Given the description of an element on the screen output the (x, y) to click on. 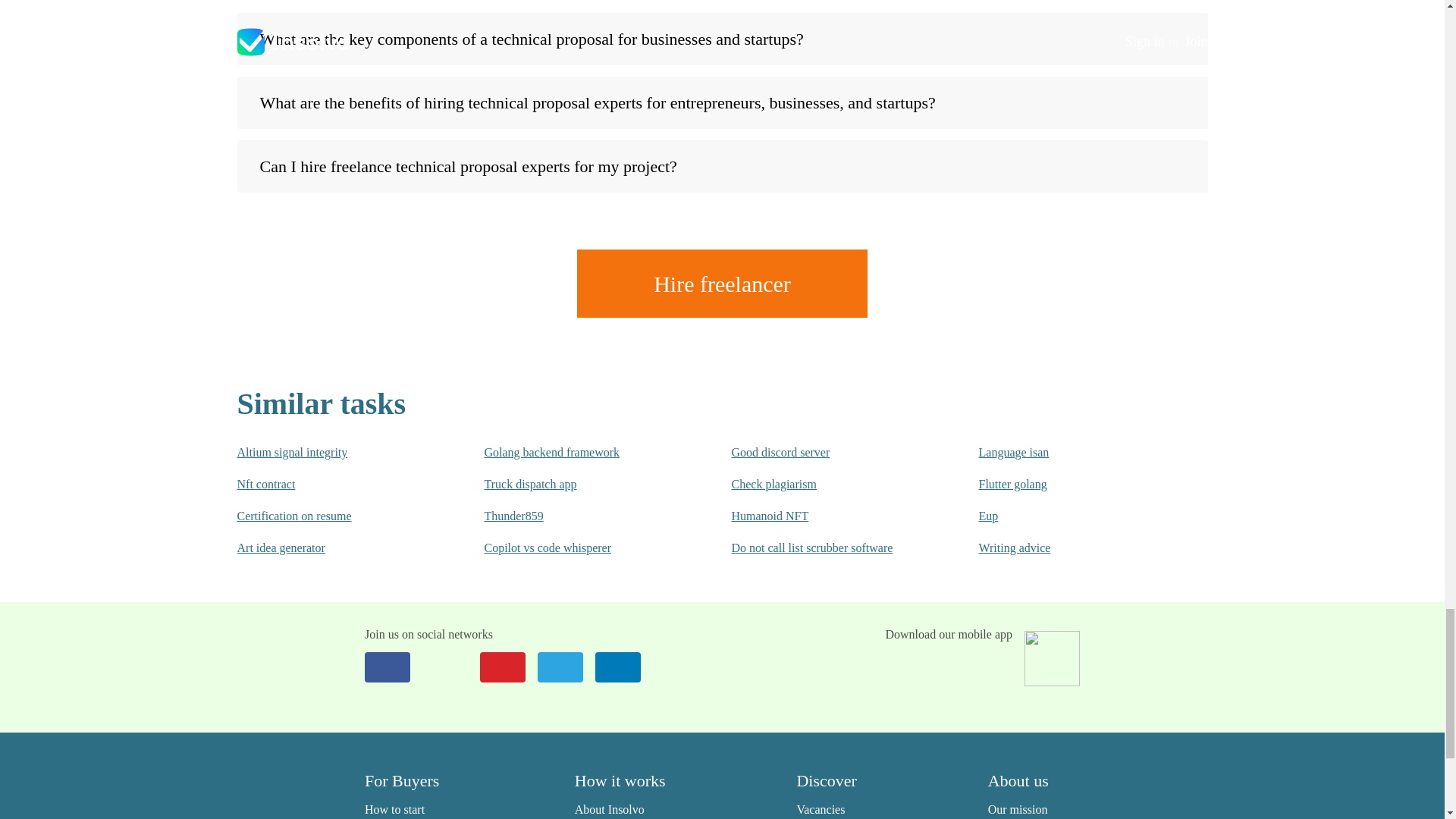
Copilot vs code whisperer (576, 547)
Check plagiarism (823, 484)
Good discord server (823, 452)
About Insolvo (610, 809)
Eup (1071, 515)
How to start (395, 809)
Humanoid NFT (823, 515)
Truck dispatch app (576, 484)
Flutter golang (1071, 484)
Hire freelancer (721, 283)
Nft contract (329, 484)
Altium signal integrity (329, 452)
Golang backend framework (576, 452)
Writing advice (1071, 547)
Art idea generator (329, 547)
